Given the description of an element on the screen output the (x, y) to click on. 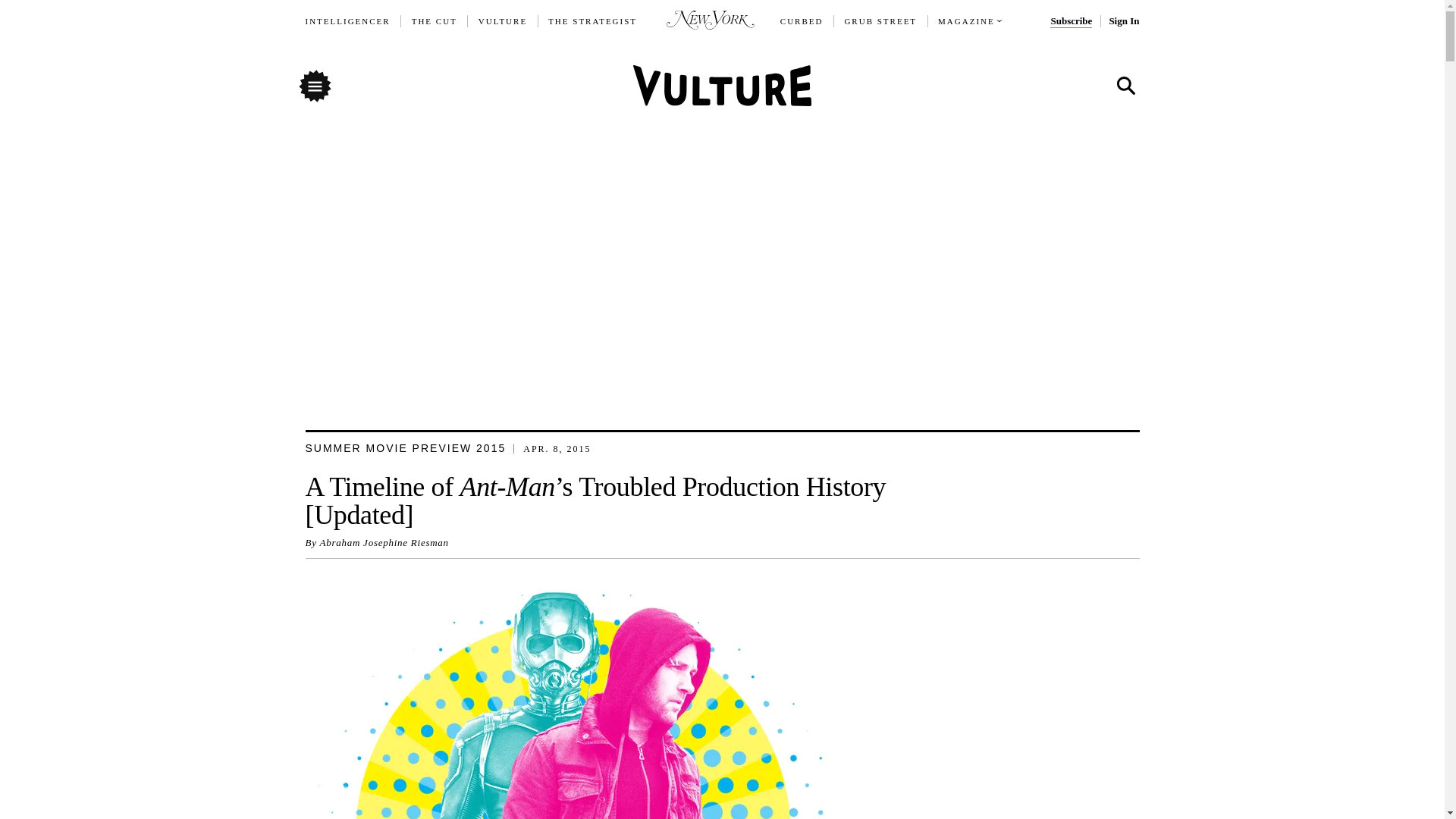
VULTURE (503, 21)
THE STRATEGIST (592, 21)
MAGAZINE (965, 21)
Menu (314, 84)
CURBED (802, 21)
GRUB STREET (880, 21)
Sign In (1123, 21)
THE CUT (434, 21)
Search (1124, 86)
Subscribe (1070, 21)
